Given the description of an element on the screen output the (x, y) to click on. 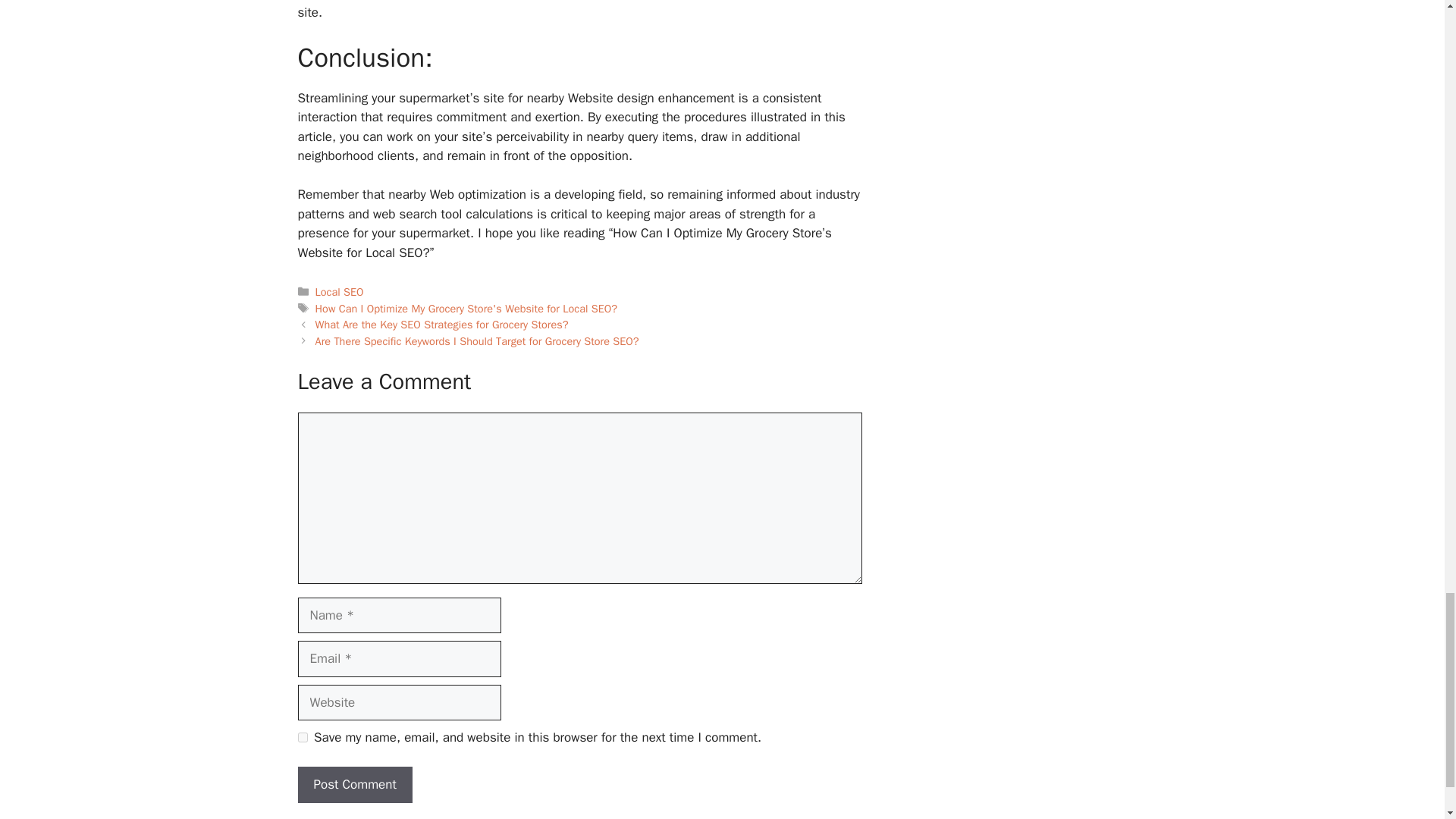
yes (302, 737)
Post Comment (354, 784)
How Can I Optimize My Grocery Store's Website for Local SEO? (466, 308)
Post Comment (354, 784)
Local SEO (339, 291)
What Are the Key SEO Strategies for Grocery Stores? (442, 324)
